Given the description of an element on the screen output the (x, y) to click on. 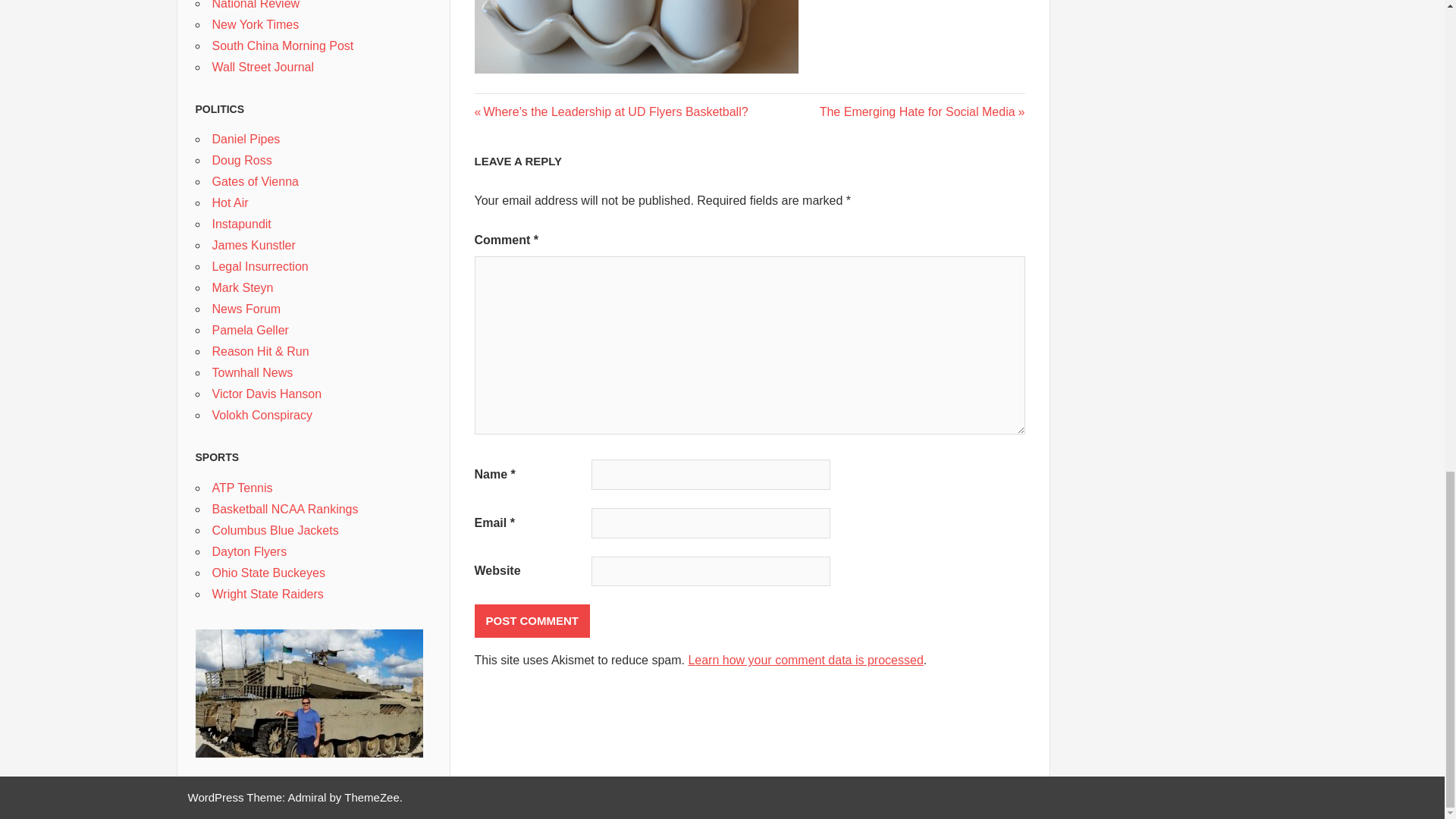
Post Comment (532, 621)
Learn how your comment data is processed (805, 659)
Post Comment (922, 111)
